Given the description of an element on the screen output the (x, y) to click on. 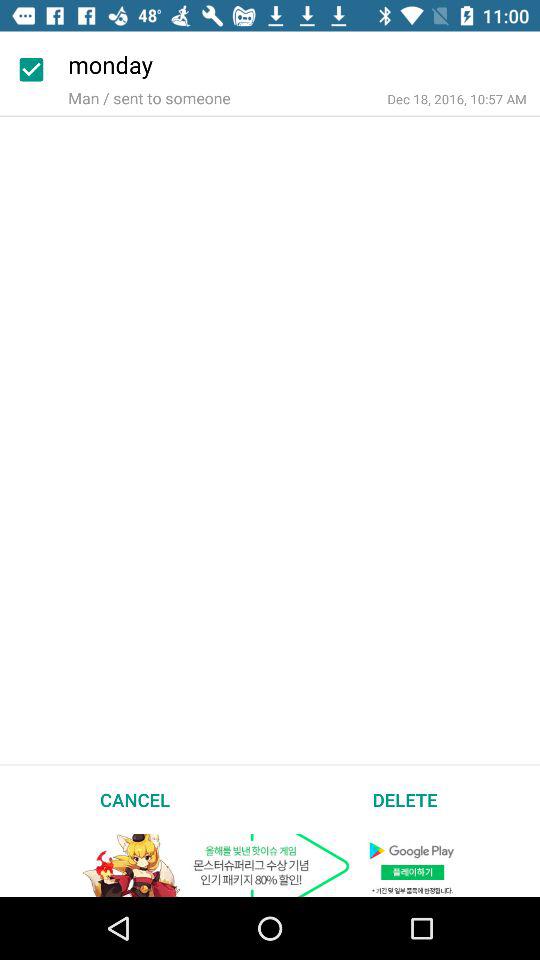
scroll until the cancel item (135, 799)
